Given the description of an element on the screen output the (x, y) to click on. 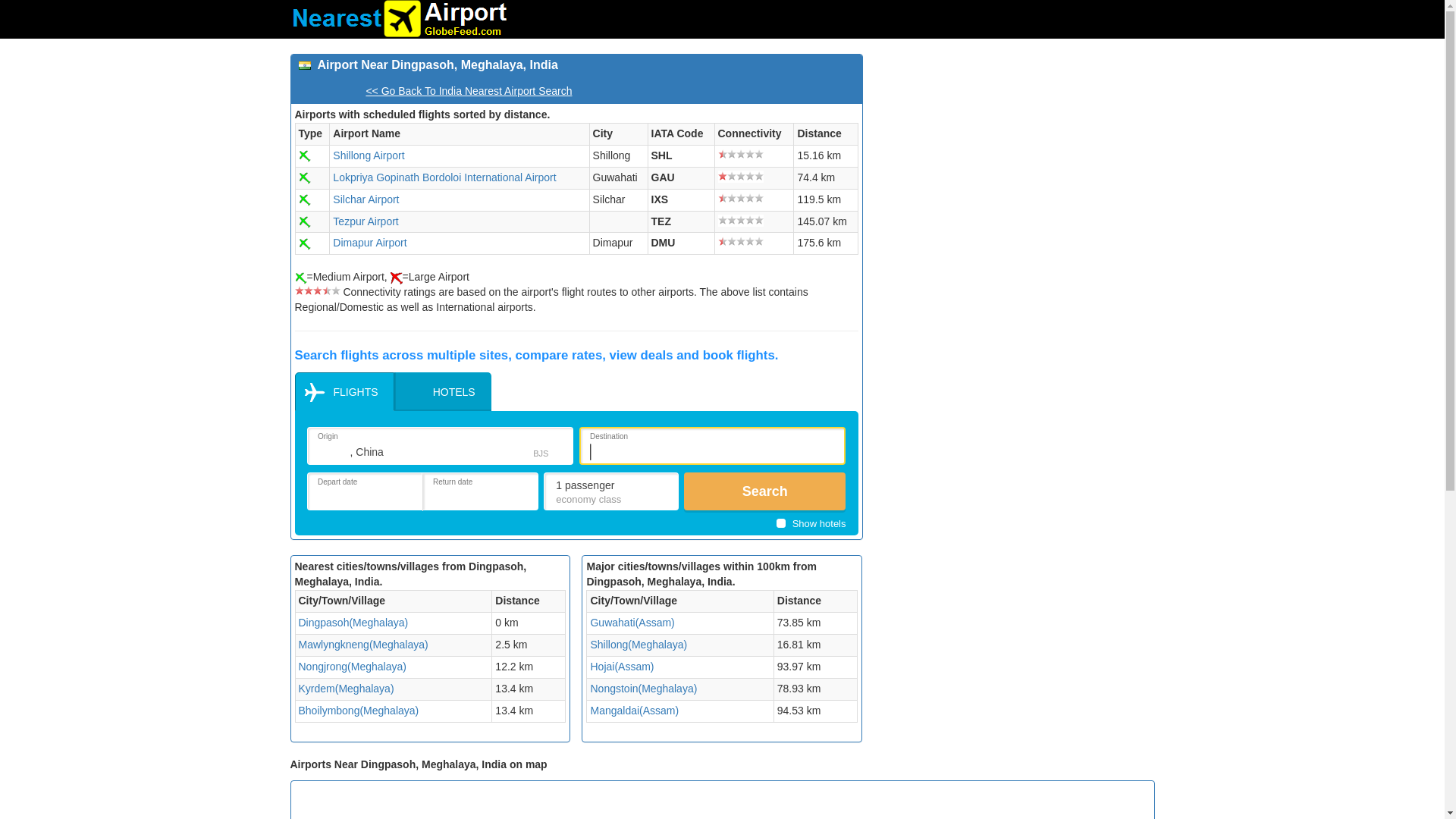
Airports near Kyrdem, Meghalaya, India (346, 688)
Airports near Nongstoin, Meghalaya, India (643, 688)
Advertisement (1013, 160)
Airports near Nongjrong, Meghalaya, India (352, 666)
Airports near Guwahati, Assam, India (631, 622)
Silchar Airport (365, 199)
Airports near Dingpasoh, Meghalaya, India (353, 622)
Airports near Hojai, Assam, India (621, 666)
Airports near Shillong, Meghalaya, India (638, 644)
Search (764, 491)
Lokpriya Gopinath Bordoloi International Airport (444, 177)
Dimapur Airport (369, 242)
Shillong Airport (368, 155)
Airports near Mangaldai, Assam, India (633, 710)
Advertisement (1083, 801)
